Given the description of an element on the screen output the (x, y) to click on. 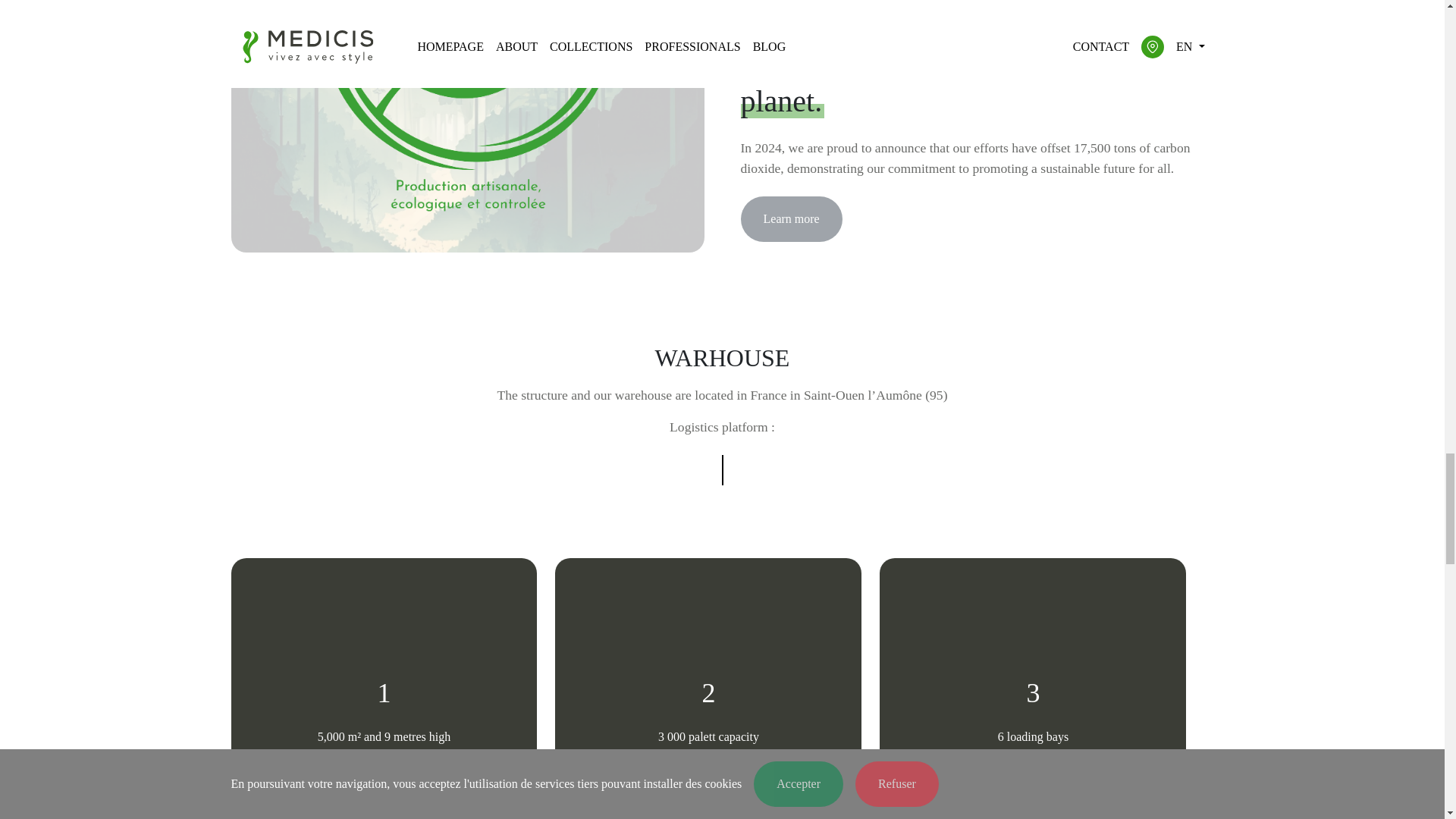
Learn more (790, 218)
